Given the description of an element on the screen output the (x, y) to click on. 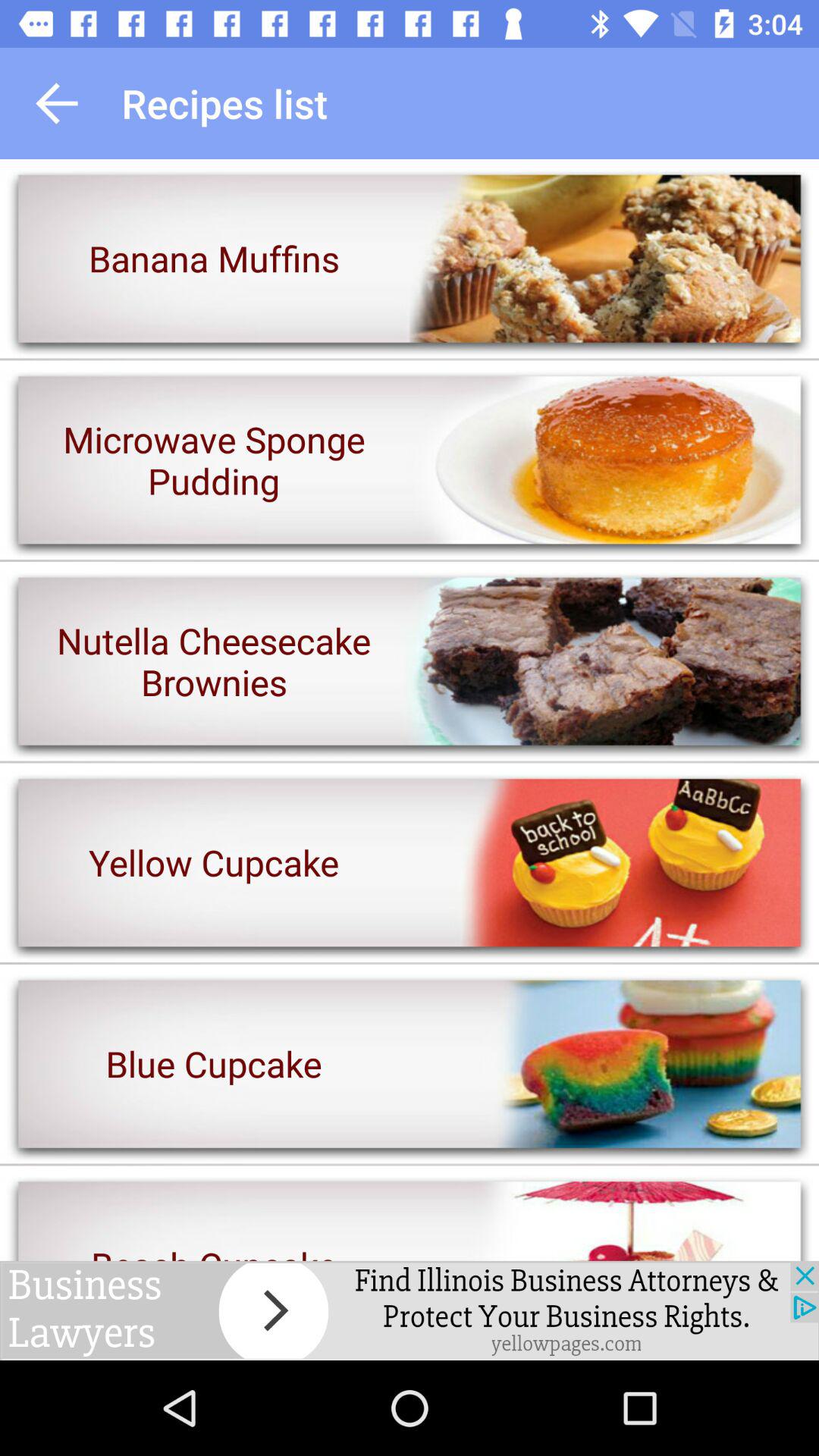
advertisement image (409, 1310)
